Given the description of an element on the screen output the (x, y) to click on. 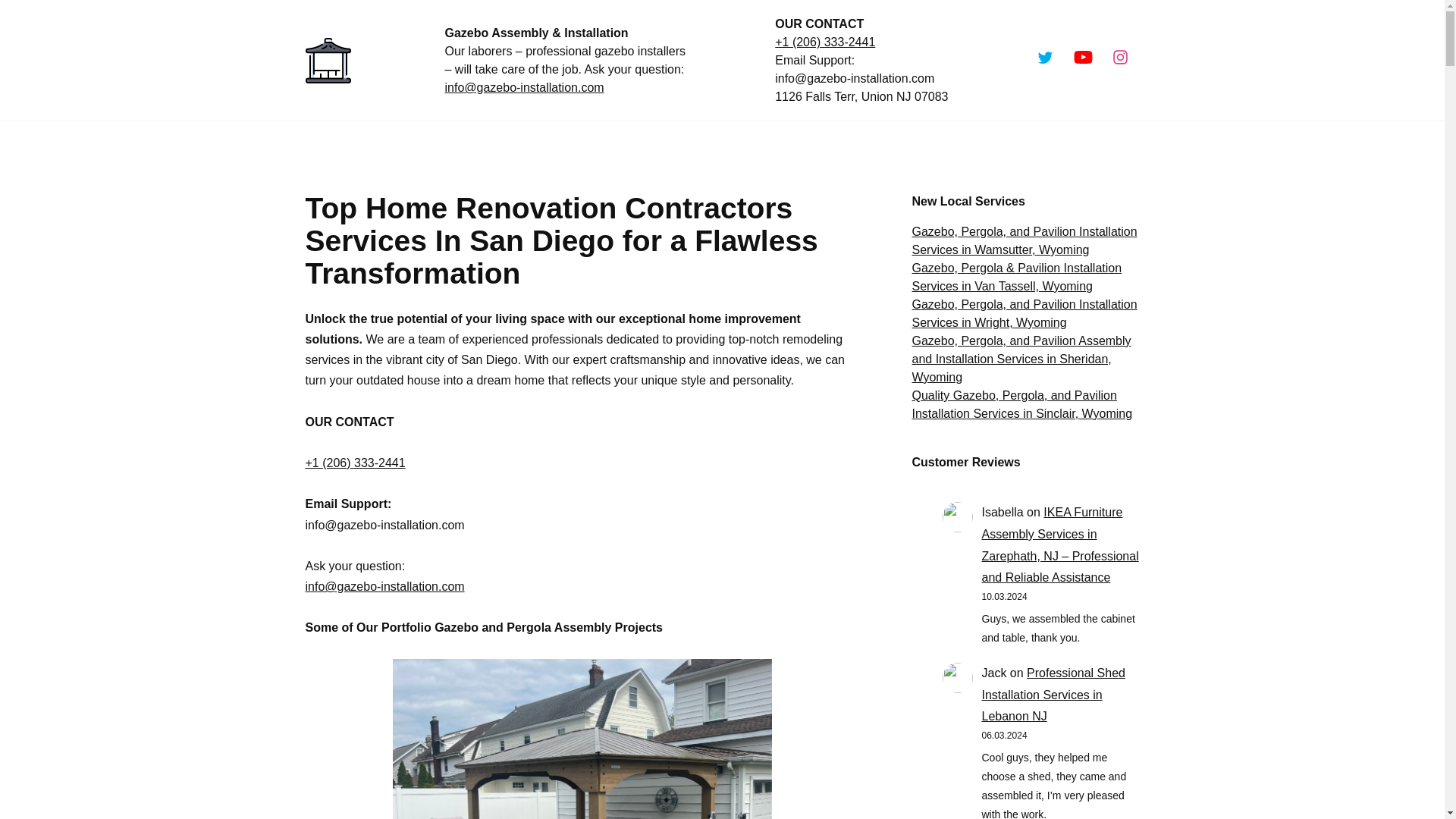
CONTACT US (1029, 145)
HANDYMAN NJ (527, 145)
LOCATIONS USA (663, 145)
GAZEBO INSTALLATION (380, 145)
PORTFOLIO (780, 145)
CUSTOMER REVIEWS (902, 145)
